Given the description of an element on the screen output the (x, y) to click on. 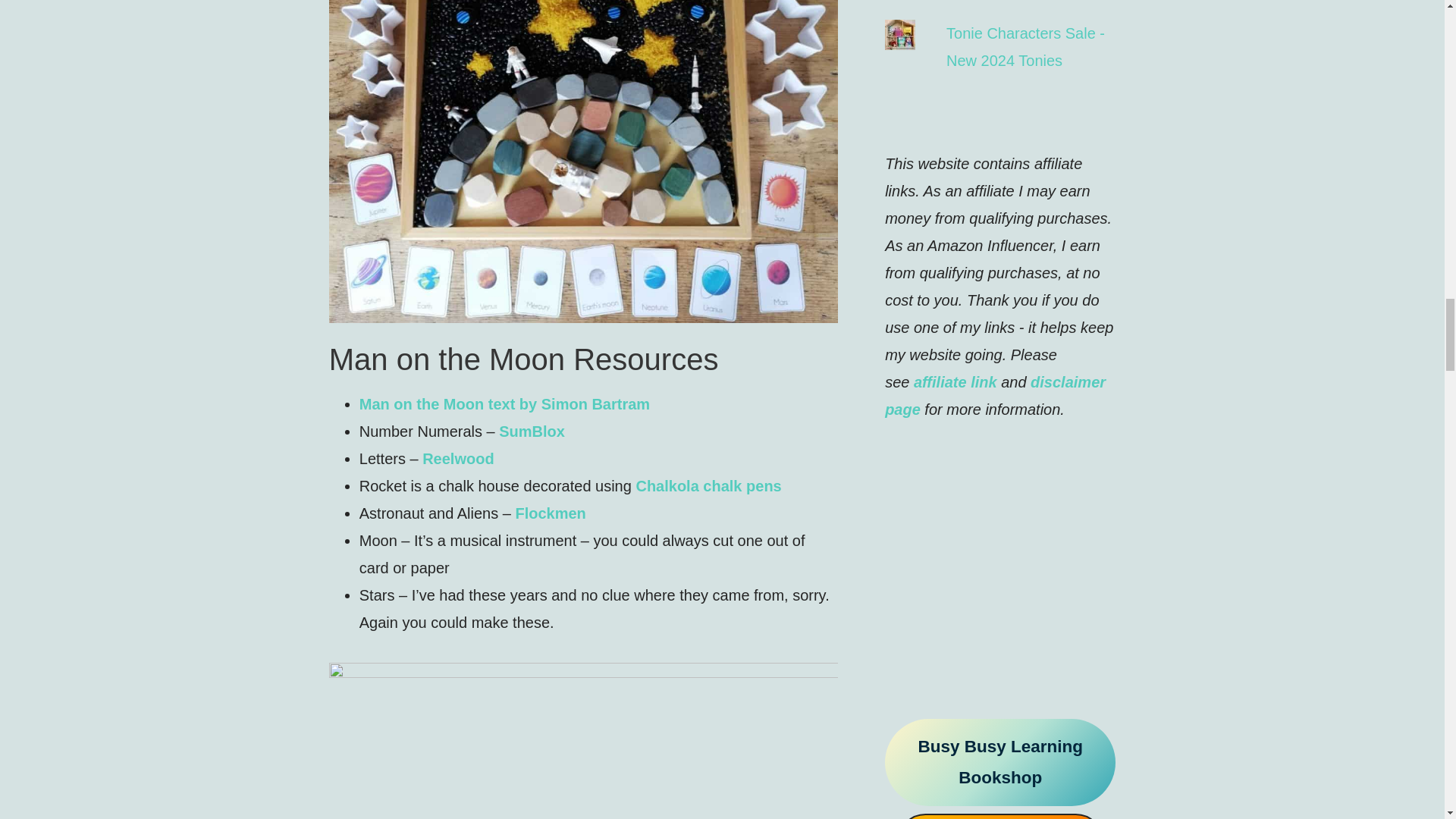
Flockmen (550, 513)
SumBlox (531, 431)
Chalkola chalk pens (707, 485)
Reelwood (457, 458)
Man on the Moon text by Simon Bartram (504, 403)
